Given the description of an element on the screen output the (x, y) to click on. 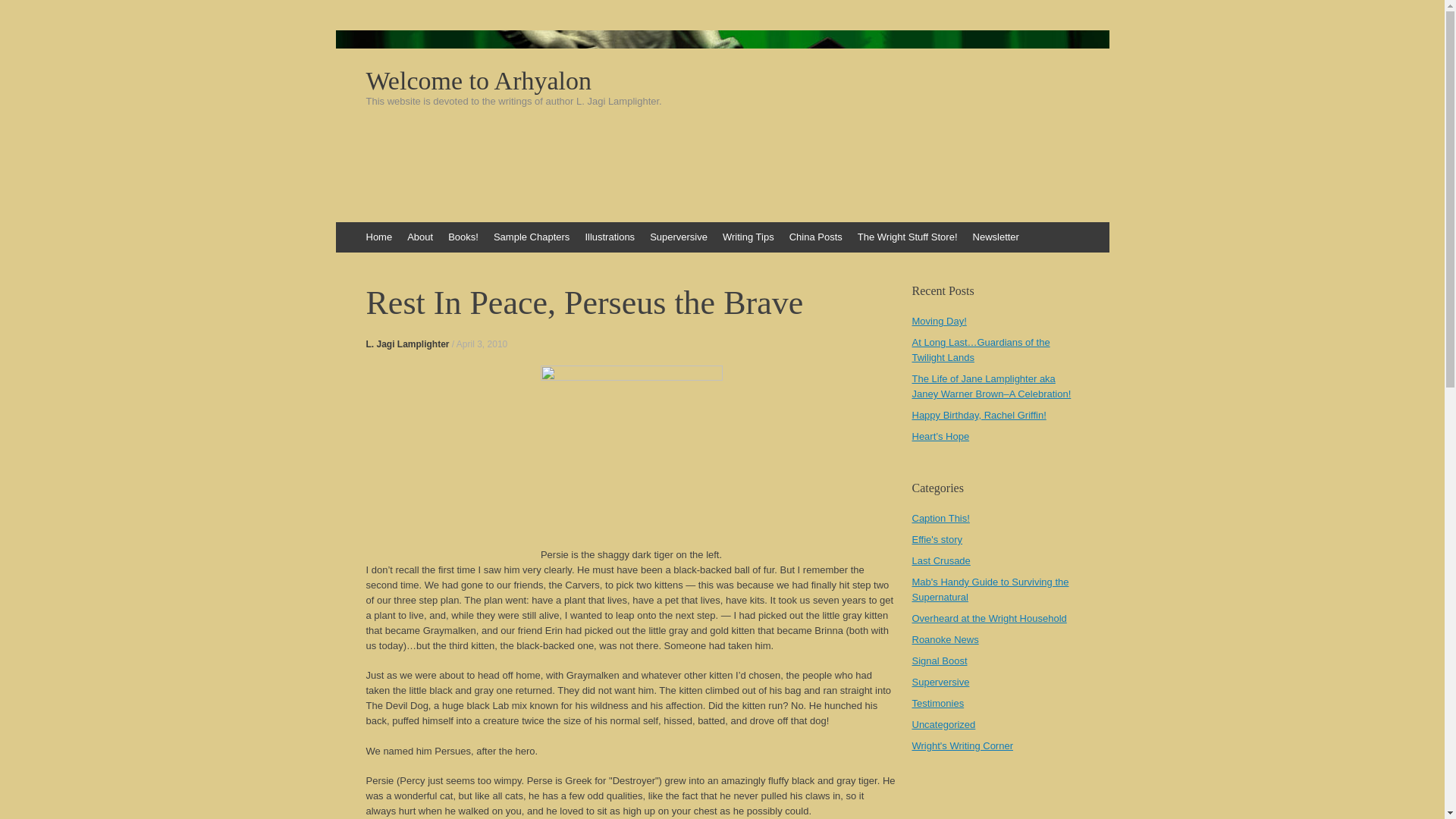
Skip to content (342, 229)
Welcome to Arhyalon (721, 80)
The Wright Stuff Store! (907, 236)
About (419, 236)
Books! (463, 236)
April 3, 2010 (481, 344)
Superversive (678, 236)
China Posts (815, 236)
Sample Chapters (531, 236)
L. Jagi Lamplighter (406, 344)
Newsletter (995, 236)
Welcome to Arhyalon (721, 80)
Moving Day! (938, 320)
Illustrations (609, 236)
Writing Tips (747, 236)
